Given the description of an element on the screen output the (x, y) to click on. 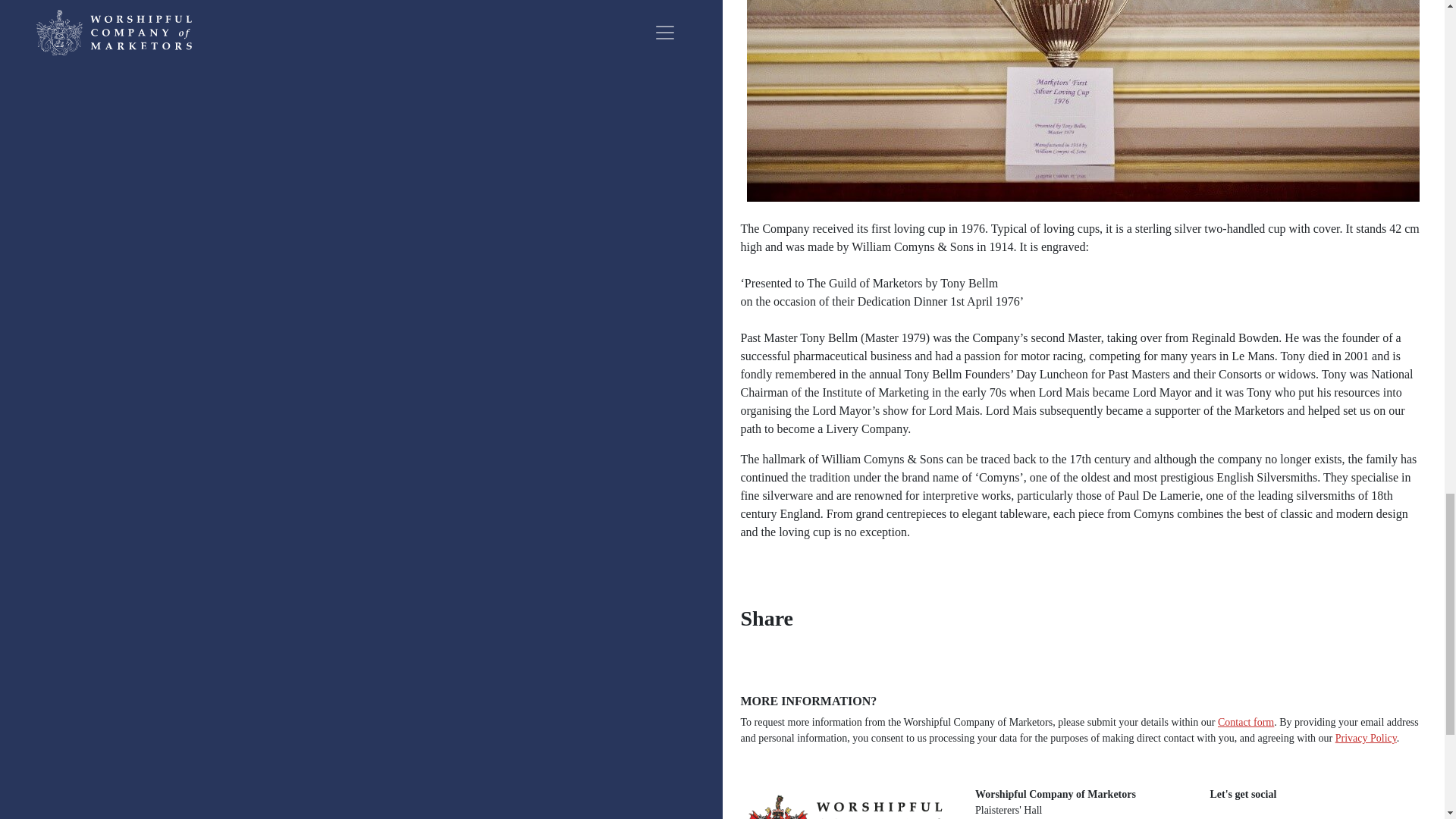
Share to Email (1073, 621)
Share to Facebook (863, 621)
Share to X (933, 621)
Share to Linkedin (1003, 621)
Contact form (1245, 722)
Privacy Policy (1365, 737)
